Given the description of an element on the screen output the (x, y) to click on. 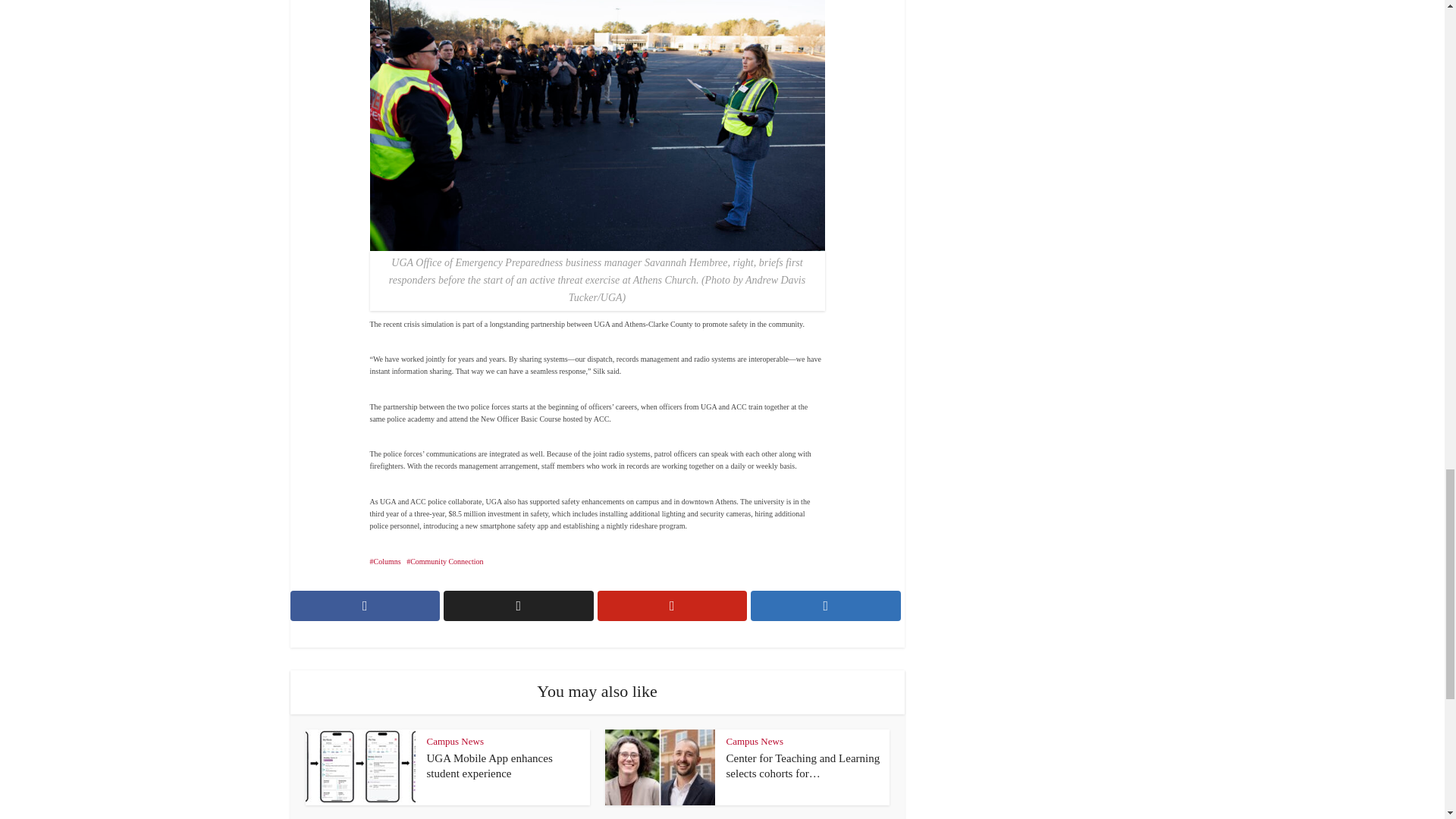
UGA Mobile App enhances student experience (488, 765)
UGA Mobile App enhances student experience (488, 765)
Community Connection (444, 561)
Campus News (454, 740)
Columns (385, 561)
